Given the description of an element on the screen output the (x, y) to click on. 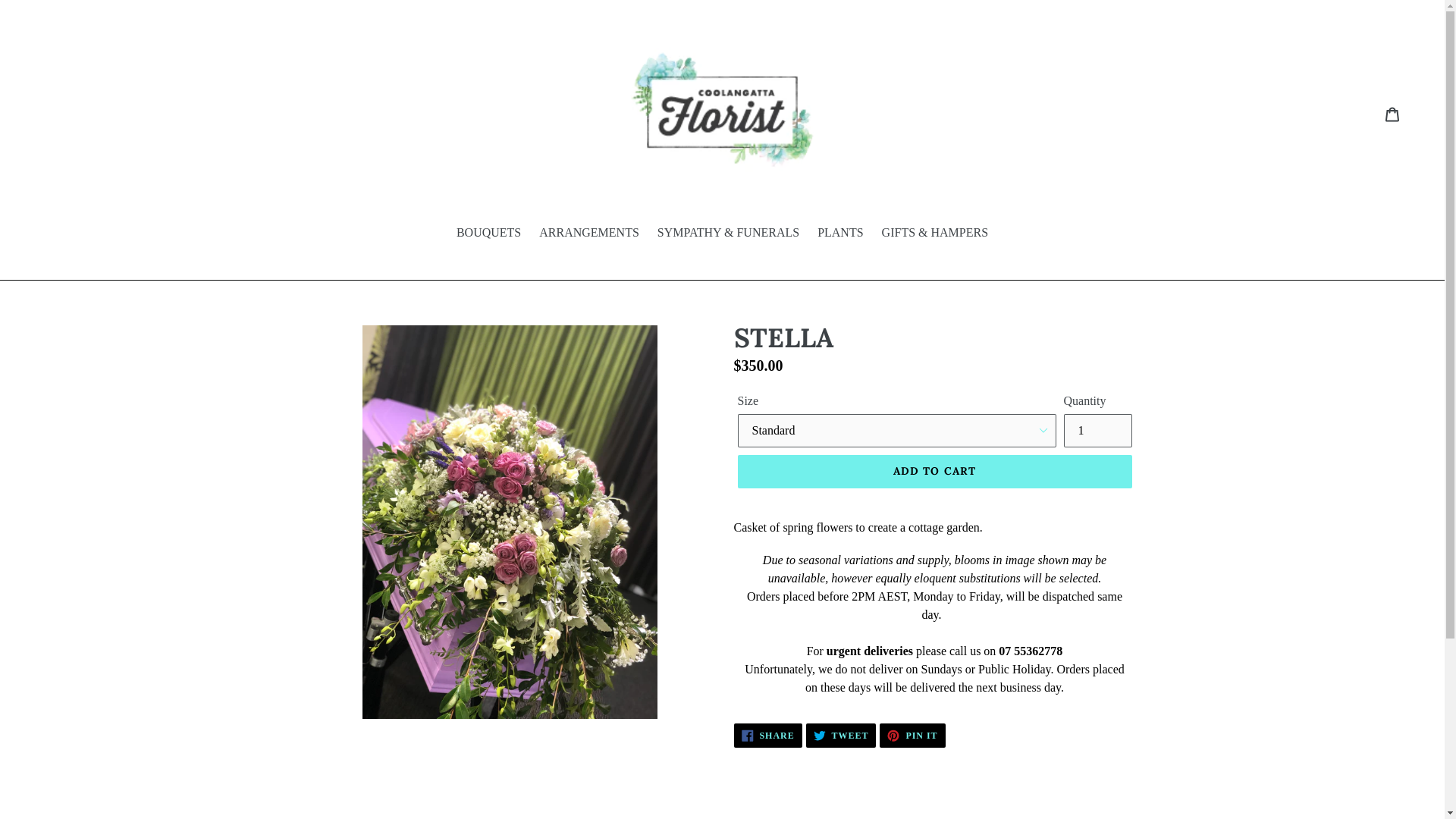
PLANTS Element type: text (839, 233)
ADD TO CART Element type: text (934, 471)
SHARE
SHARE ON FACEBOOK Element type: text (768, 735)
PIN IT
PIN ON PINTEREST Element type: text (911, 735)
SYMPATHY & FUNERALS Element type: text (727, 233)
Cart Element type: text (1393, 113)
GIFTS & HAMPERS Element type: text (934, 233)
TWEET
TWEET ON TWITTER Element type: text (841, 735)
BOUQUETS Element type: text (488, 233)
ARRANGEMENTS Element type: text (588, 233)
